Given the description of an element on the screen output the (x, y) to click on. 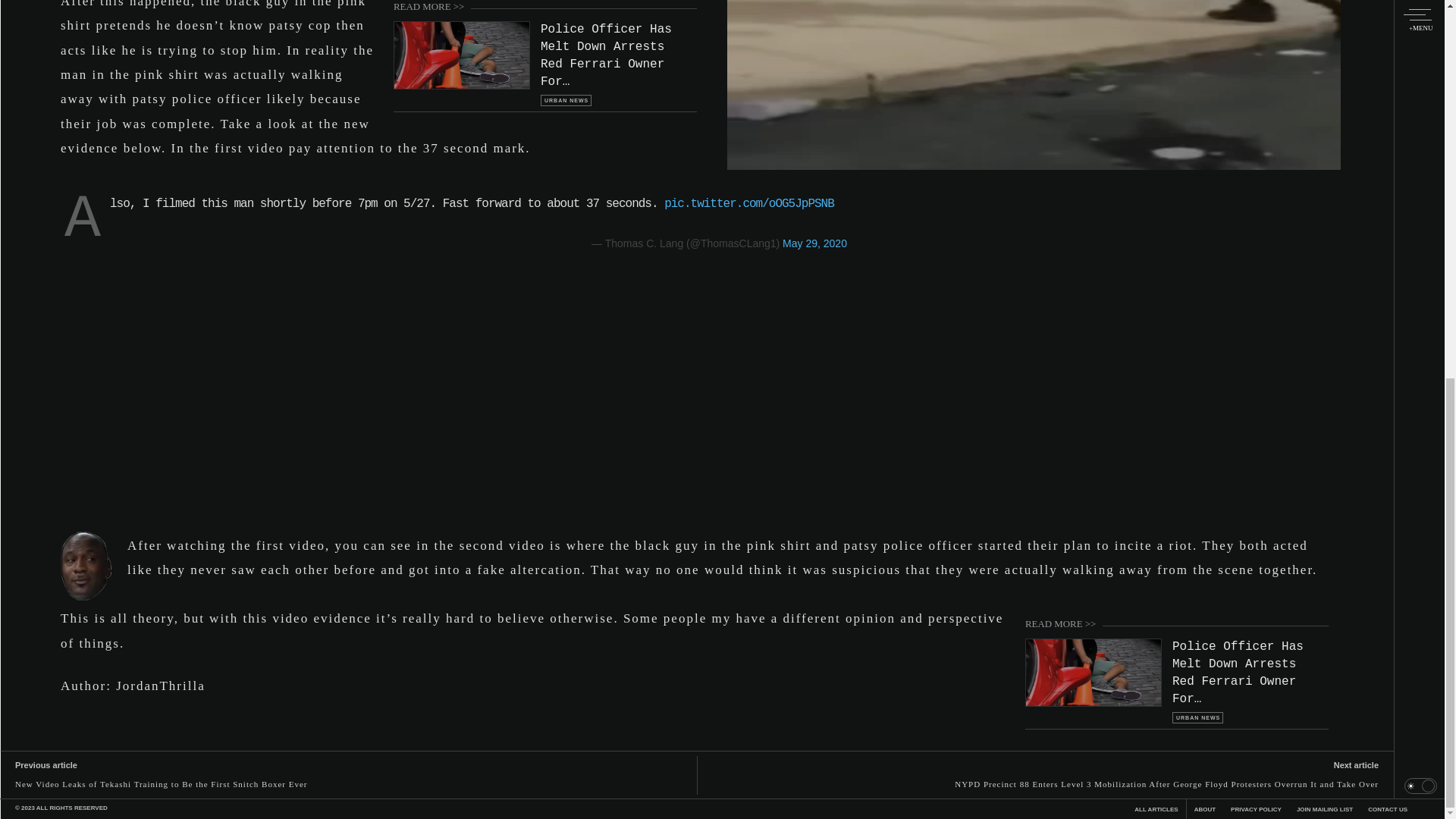
May 29, 2020 (815, 243)
ALL ARTICLES (1155, 809)
ABOUT (1204, 809)
